Given the description of an element on the screen output the (x, y) to click on. 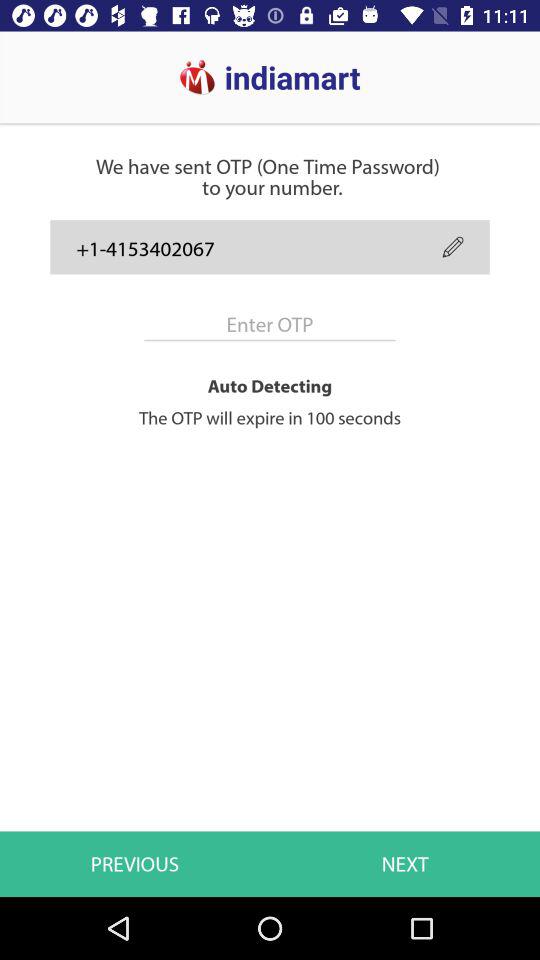
choose the icon next to the previous (405, 863)
